Given the description of an element on the screen output the (x, y) to click on. 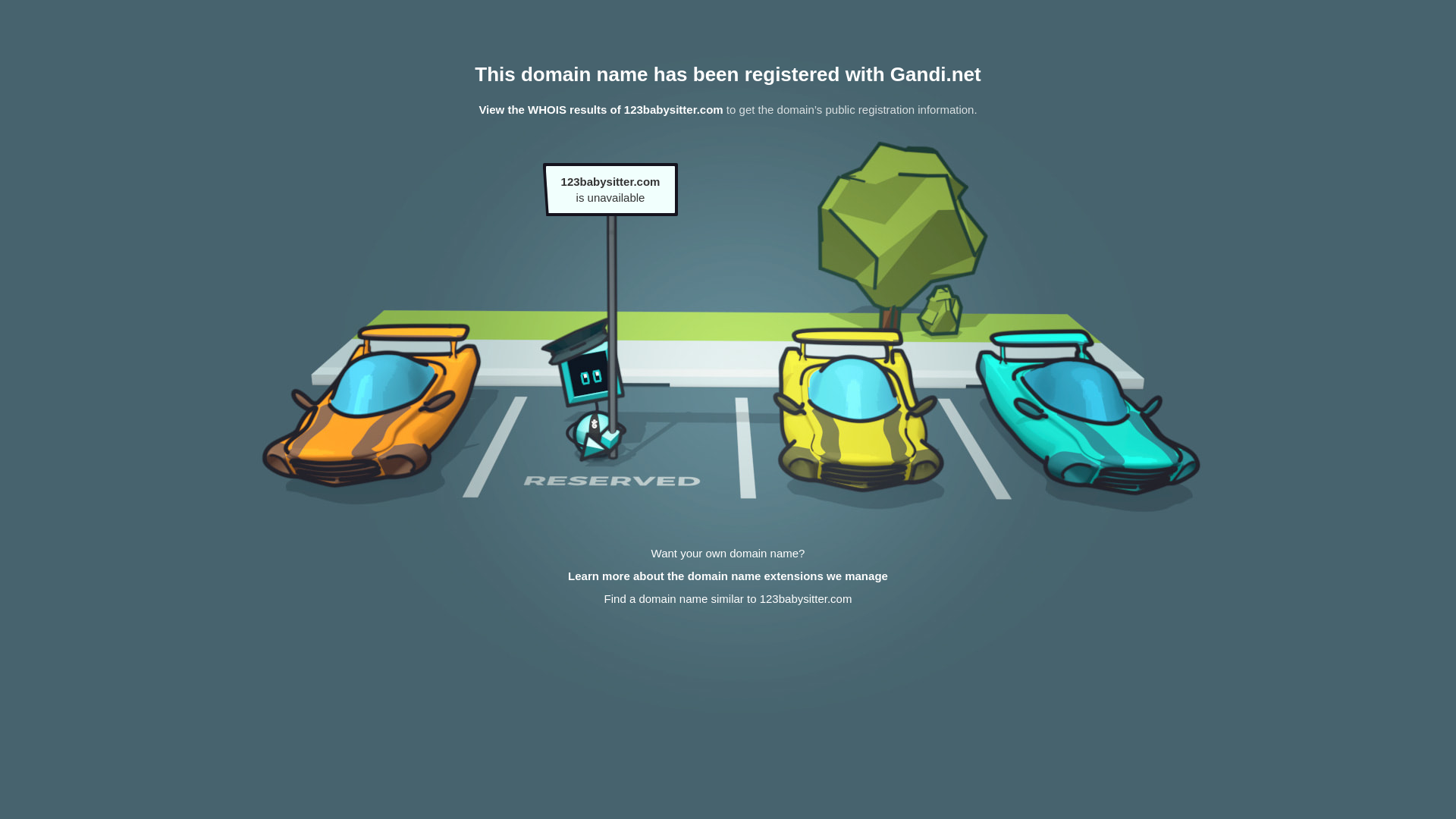
Find a domain name similar to 123babysitter.com Element type: text (728, 598)
View the WHOIS results of 123babysitter.com Element type: text (600, 109)
Learn more about the domain name extensions we manage Element type: text (727, 575)
